Given the description of an element on the screen output the (x, y) to click on. 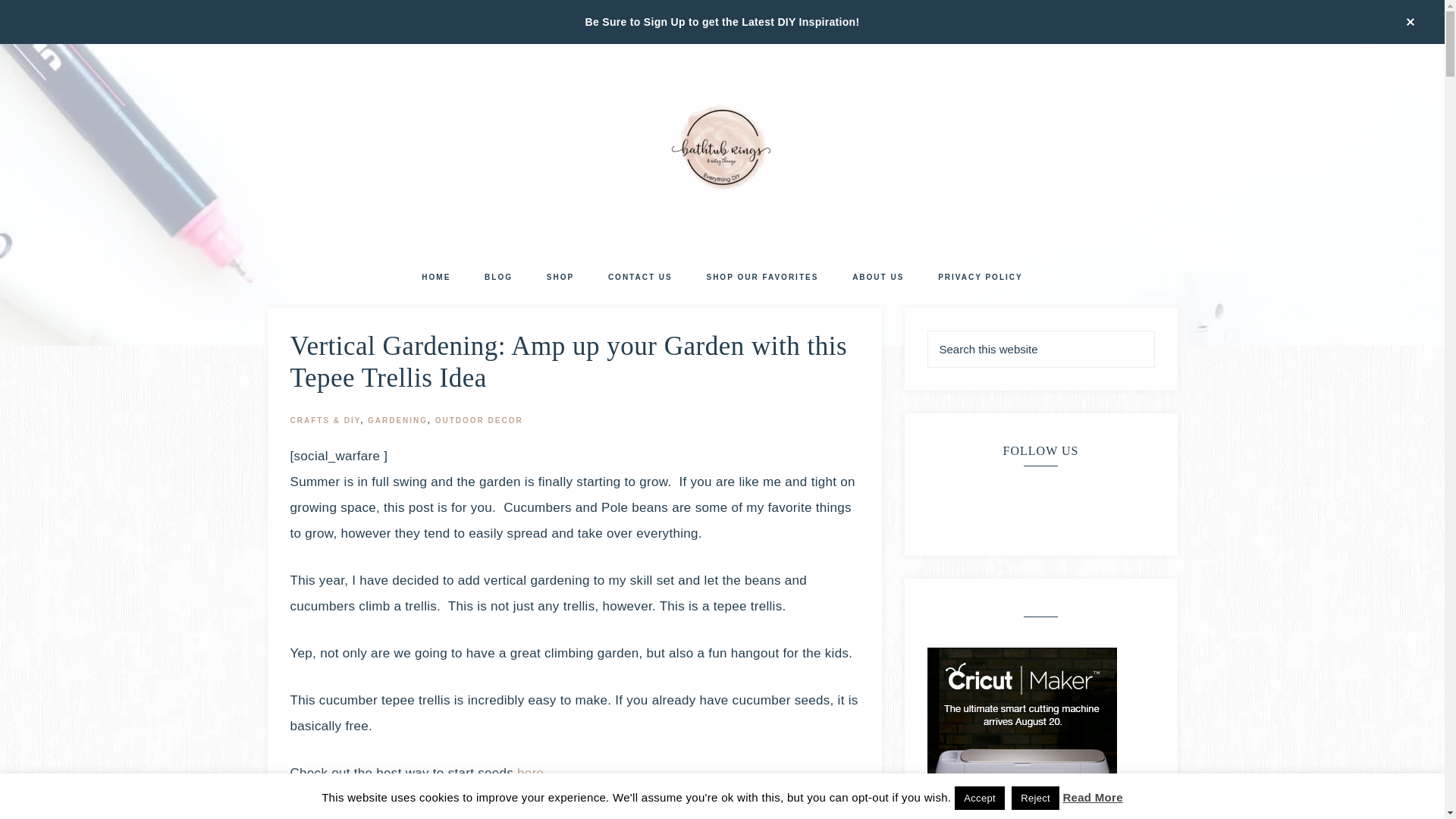
SHOP (560, 278)
CONTACT US (639, 278)
OUTDOOR DECOR (478, 420)
ABOUT US (877, 278)
here. (530, 772)
HOME (435, 278)
BLOG (497, 278)
PRIVACY POLICY (980, 278)
SHOP OUR FAVORITES (761, 278)
GARDENING (398, 420)
